Given the description of an element on the screen output the (x, y) to click on. 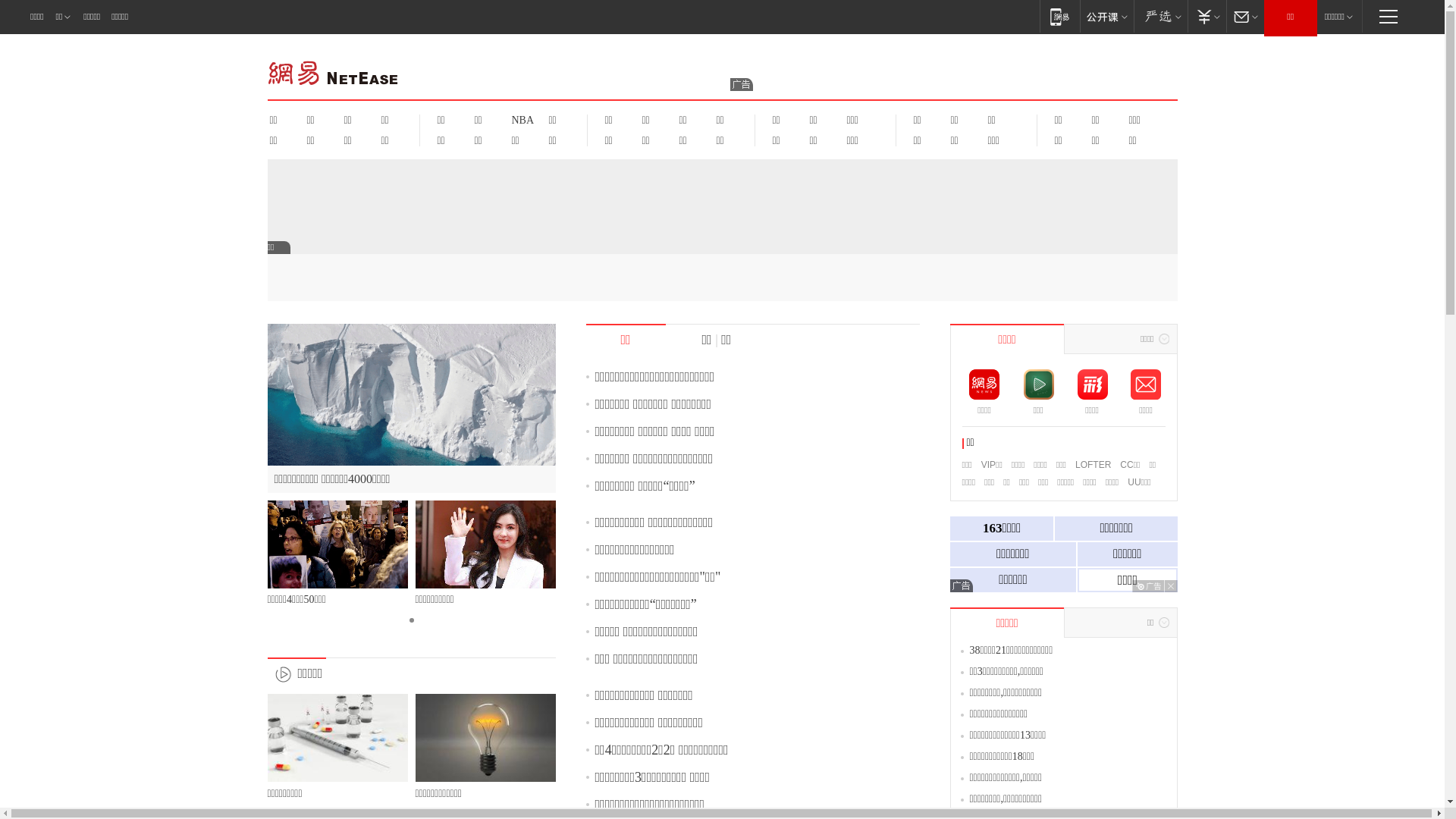
LOFTER Element type: text (1092, 464)
NBA Element type: text (520, 119)
